Given the description of an element on the screen output the (x, y) to click on. 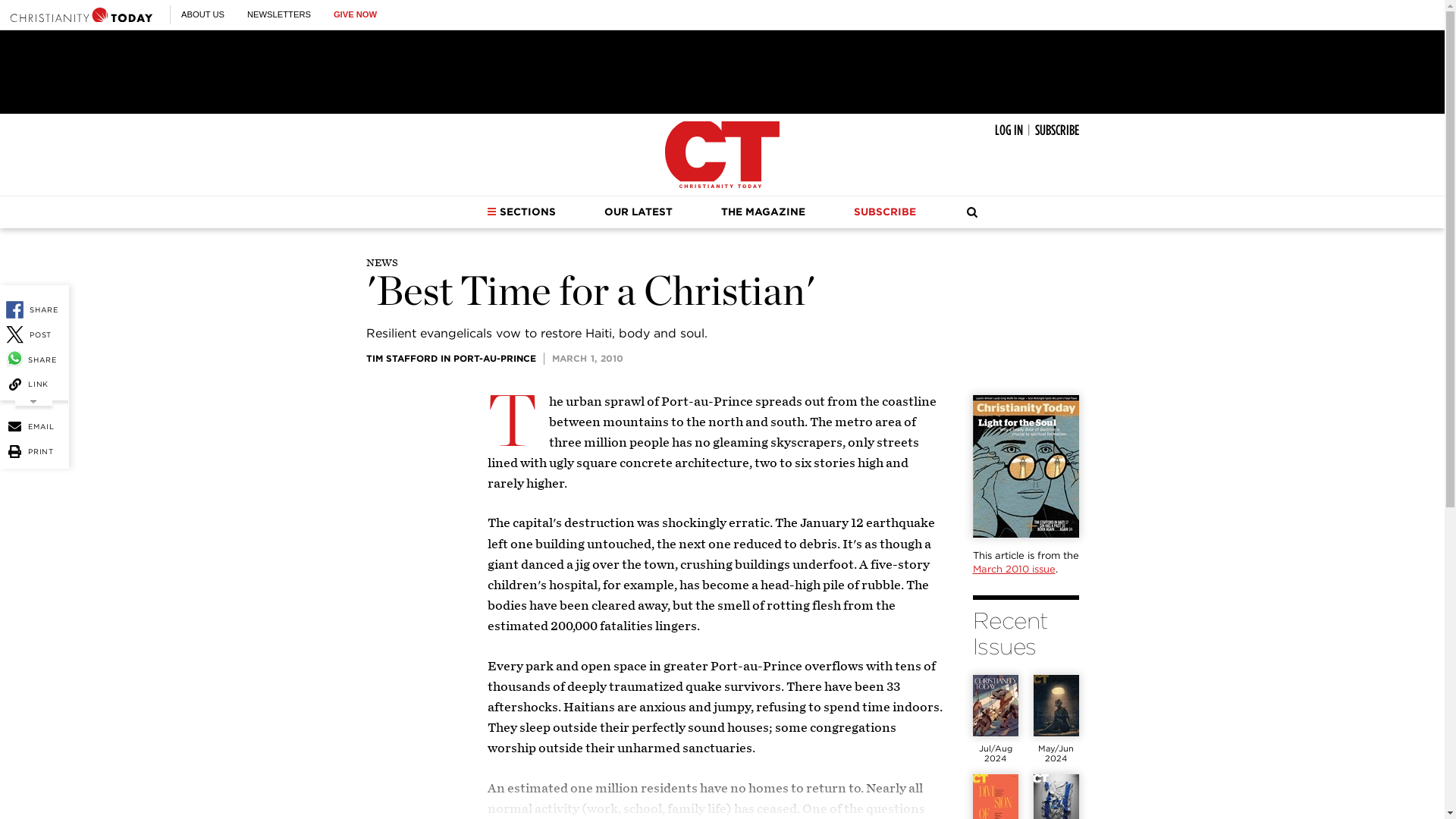
SECTIONS (521, 212)
Christianity Today (81, 14)
ABOUT US (202, 14)
SUBSCRIBE (1055, 130)
Sections Dropdown (491, 211)
Christianity Today (721, 154)
3rd party ad content (721, 71)
NEWSLETTERS (278, 14)
GIVE NOW (355, 14)
LOG IN (1008, 130)
